Given the description of an element on the screen output the (x, y) to click on. 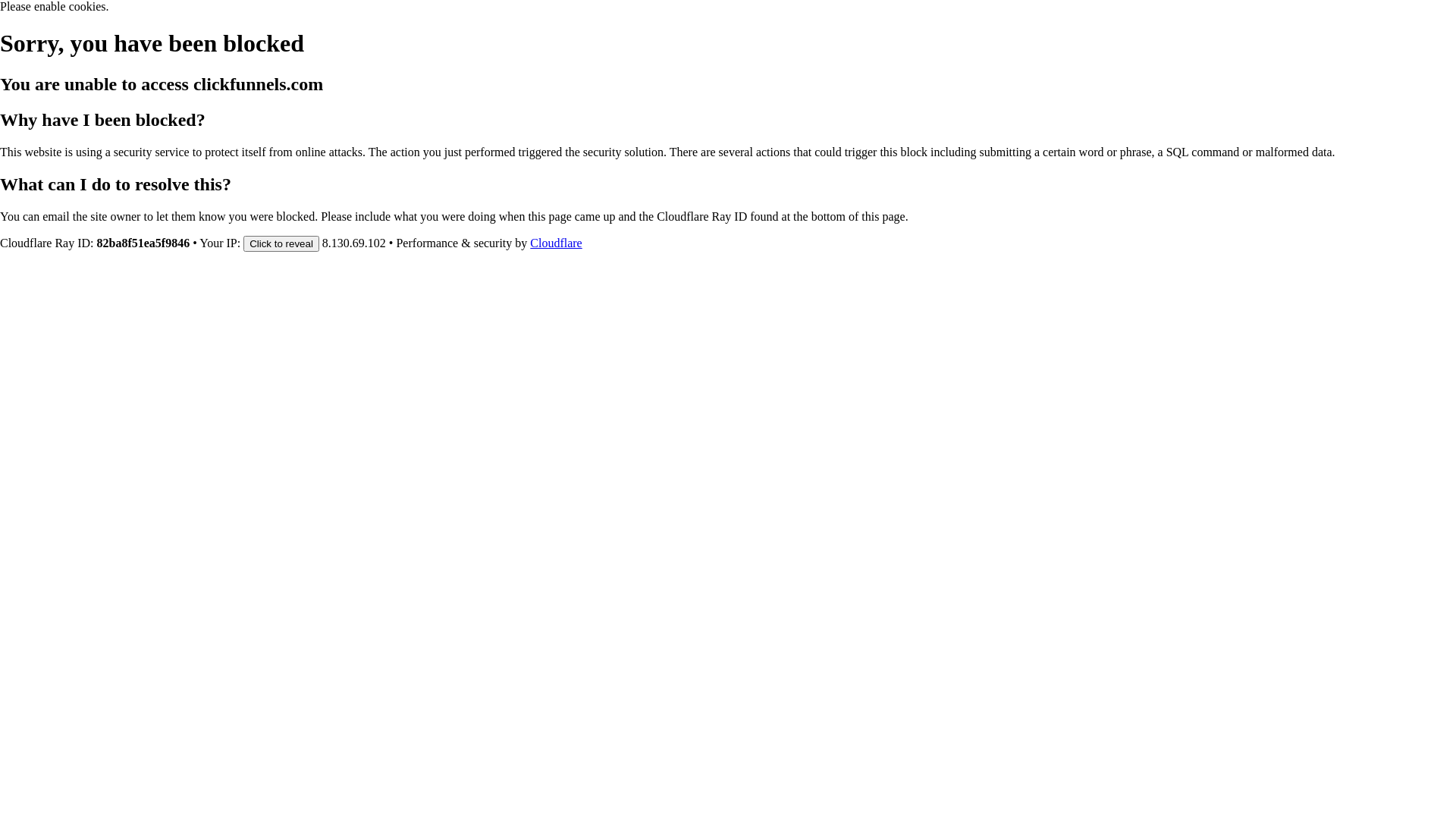
Click to reveal Element type: text (281, 243)
Cloudflare Element type: text (555, 242)
